Given the description of an element on the screen output the (x, y) to click on. 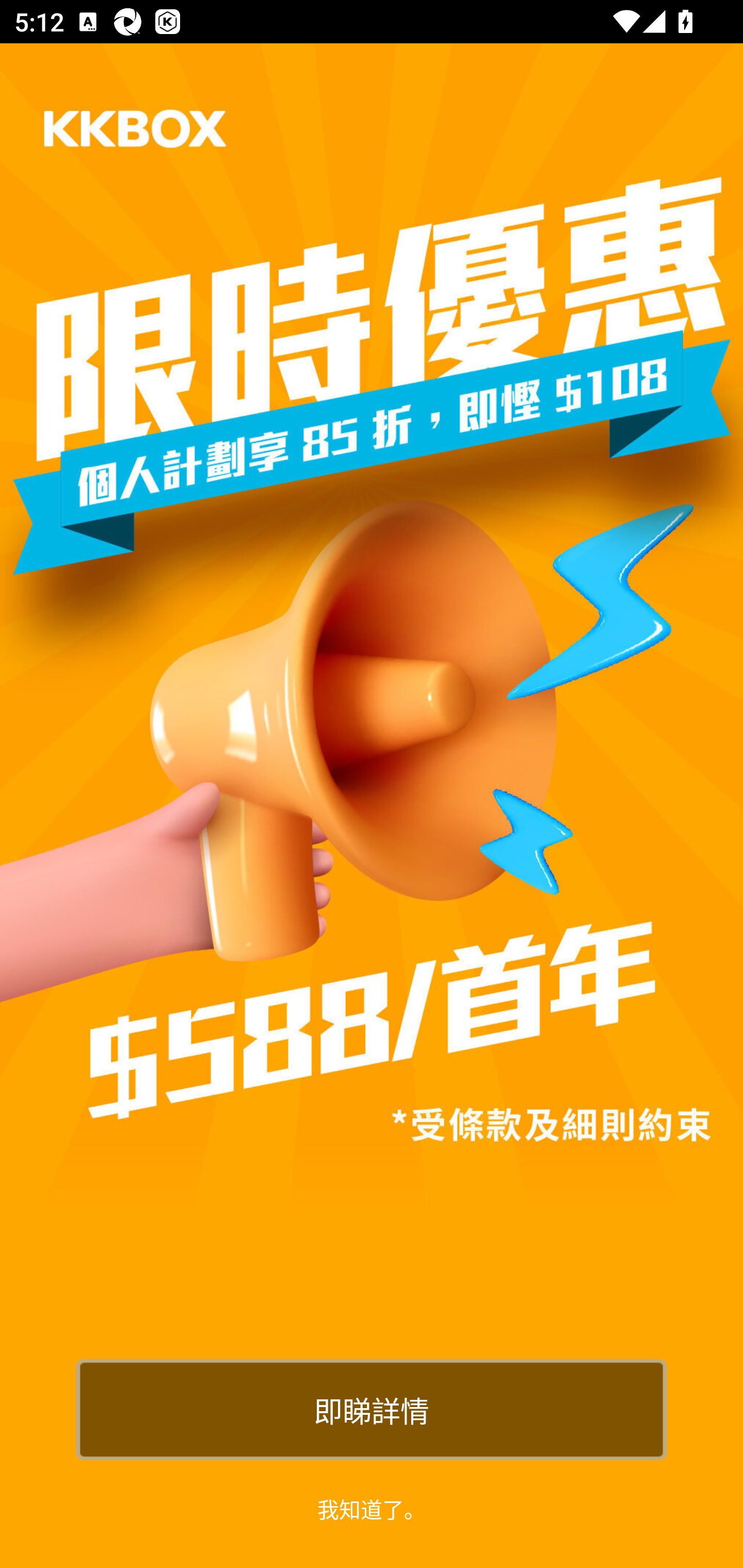
即睇詳情 (371, 1409)
我知道了。 (371, 1508)
